Given the description of an element on the screen output the (x, y) to click on. 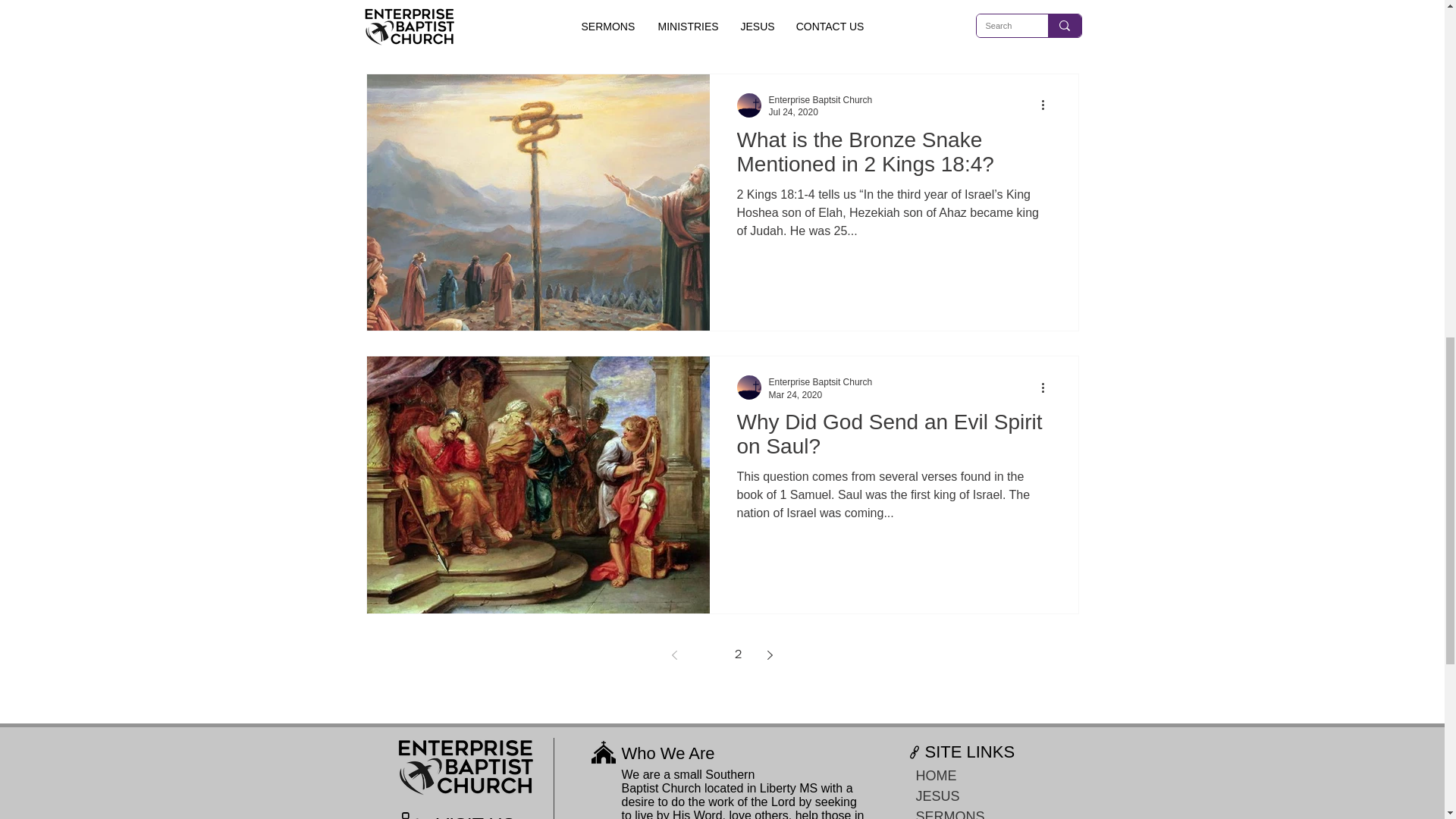
What is the Bronze Snake Mentioned in 2 Kings 18:4? (893, 156)
JESUS (979, 796)
Why Did God Send an Evil Spirit on Saul? (893, 438)
EBC Thicker Logo.png (464, 767)
Enterprise Baptsit Church (820, 99)
VISIT US (475, 816)
SERMONS (979, 812)
2 (738, 655)
Mar 24, 2020 (795, 394)
Enterprise Baptsit Church (820, 381)
